Given the description of an element on the screen output the (x, y) to click on. 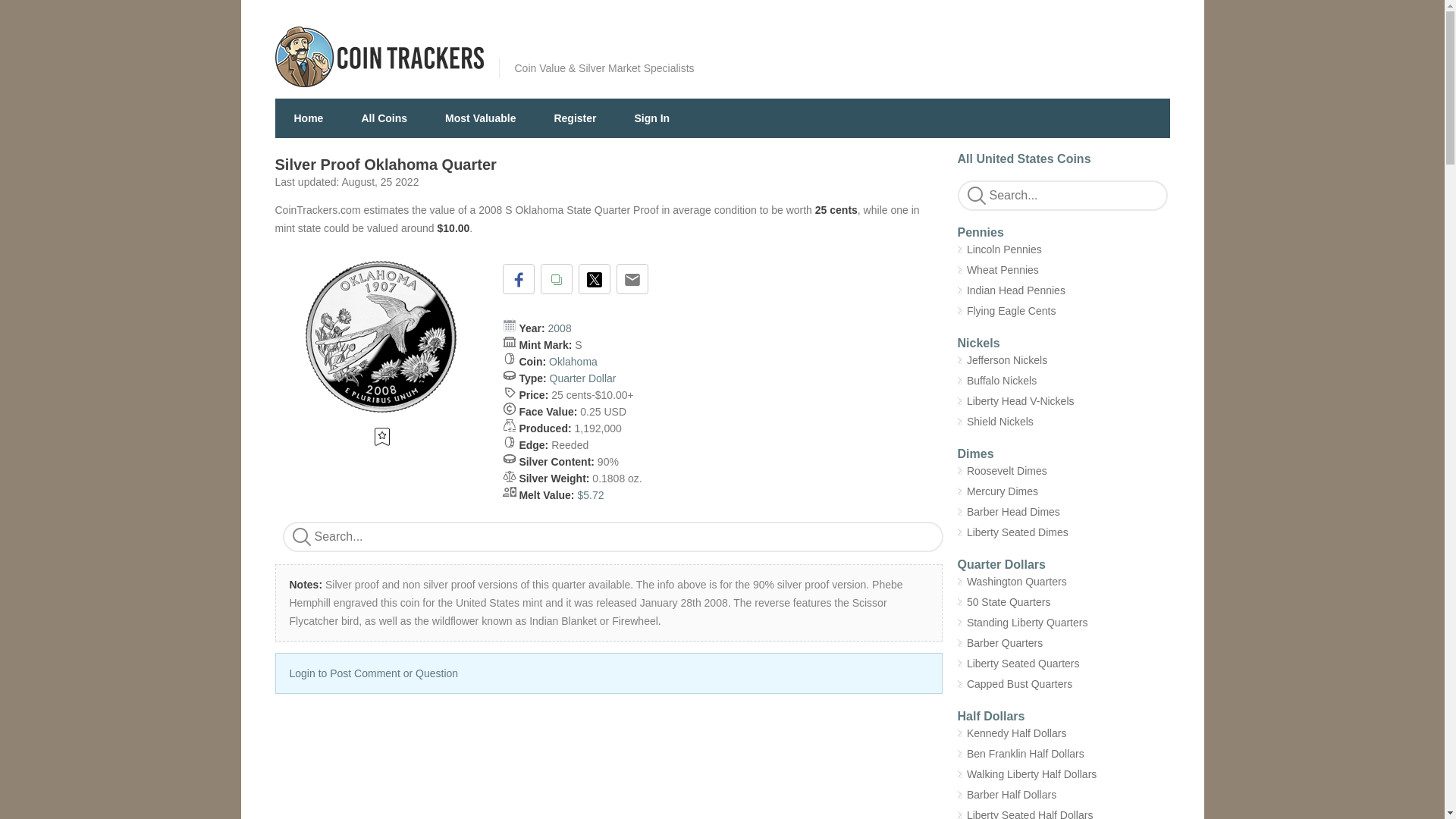
Home (308, 118)
Register (574, 118)
Advertisement (608, 768)
Sign In (651, 118)
Quarter Dollar (582, 378)
Desktop Logo (379, 56)
Advertisement (906, 44)
2008 (560, 328)
Oklahoma (572, 361)
Silver Quarter Melt Value (590, 494)
Login to Post Comment or Question (373, 673)
Most Valuable (480, 118)
Most Valuable (480, 118)
All Coins (384, 118)
Oklahoma State Quarter from 2008 (381, 336)
